Given the description of an element on the screen output the (x, y) to click on. 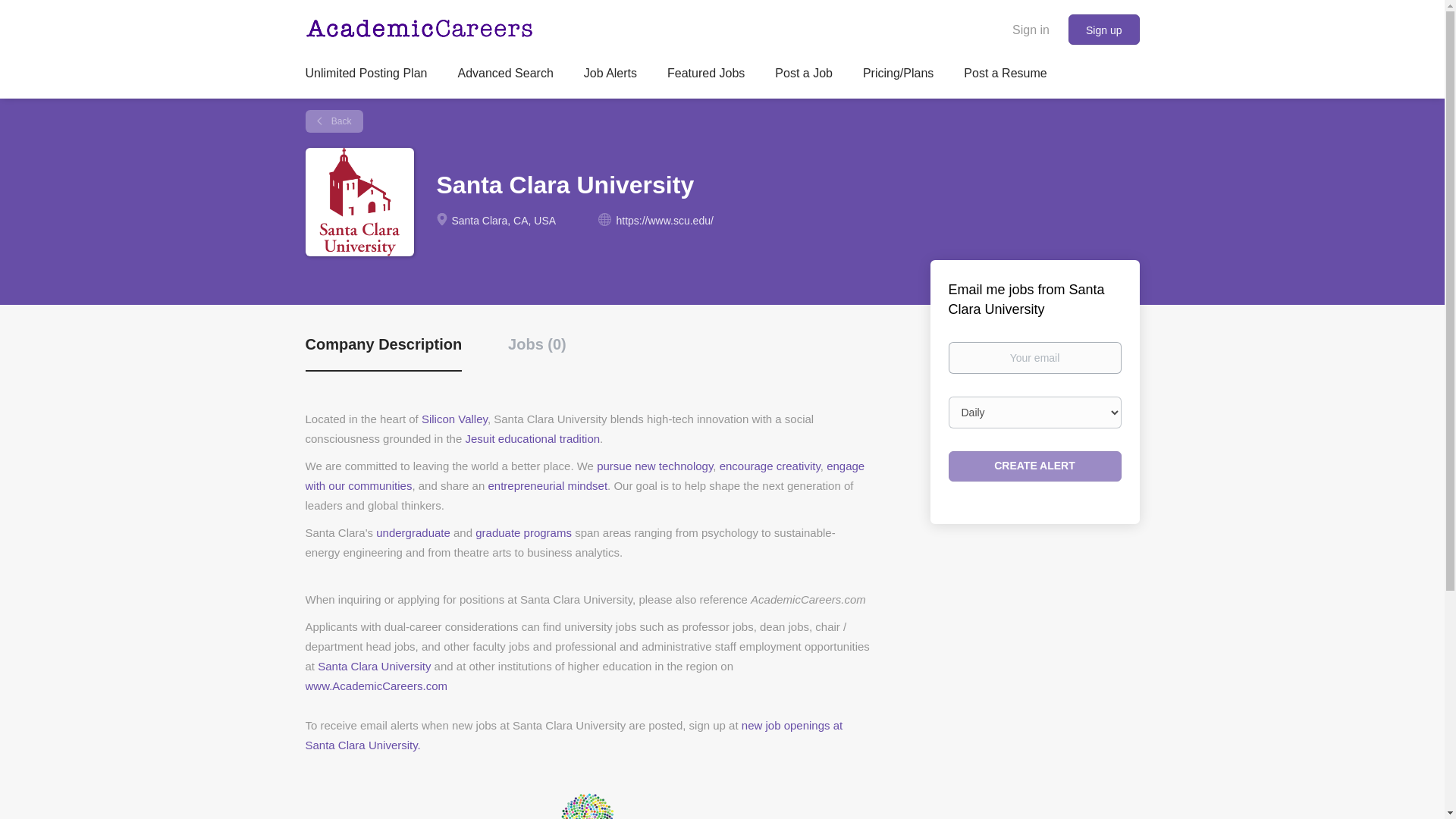
Post a Job (803, 75)
Sign in (1031, 28)
undergraduate (412, 532)
graduate programs (524, 532)
Santa Clara University (373, 666)
Advanced Search (505, 75)
Featured Jobs (705, 75)
new job openings at Santa Clara University. (573, 735)
Company Description (382, 352)
Silicon Valley (454, 418)
